Given the description of an element on the screen output the (x, y) to click on. 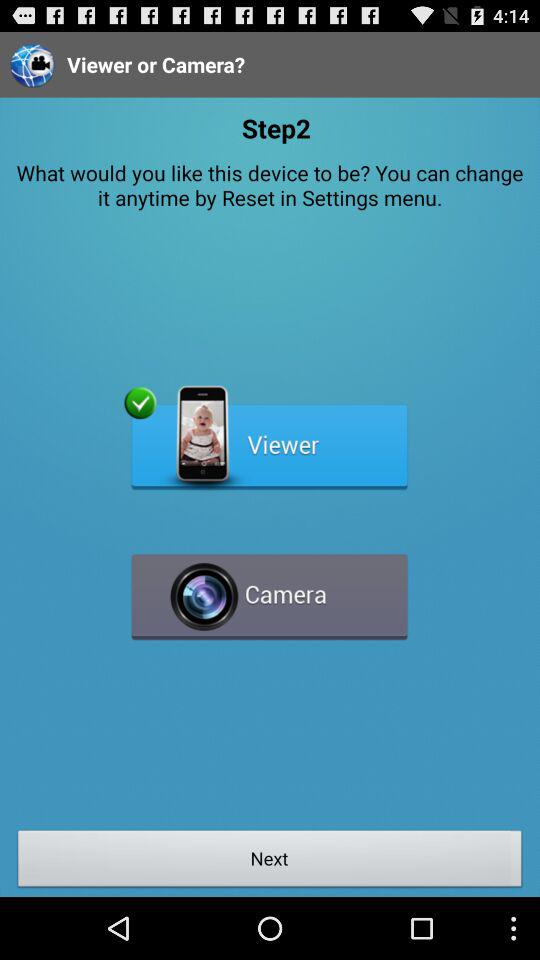
select camera (269, 588)
